Given the description of an element on the screen output the (x, y) to click on. 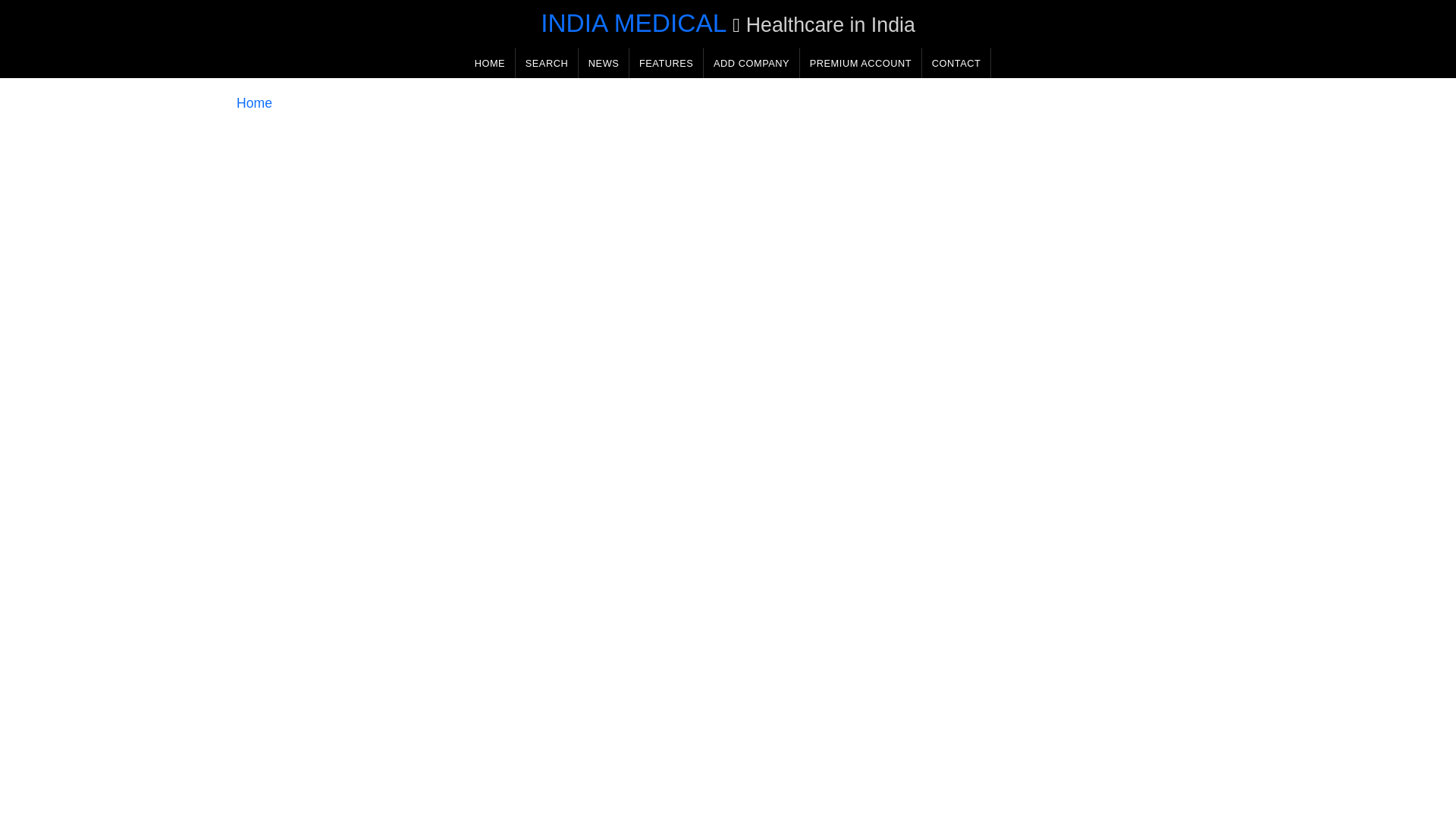
INDIA MEDICAL (633, 22)
Search in this webseite. (546, 62)
NEWS (603, 62)
Premium account (860, 62)
SEARCH (546, 62)
Add a new company (751, 62)
HOME (489, 62)
FEATURES (665, 62)
ADD COMPANY (751, 62)
